Given the description of an element on the screen output the (x, y) to click on. 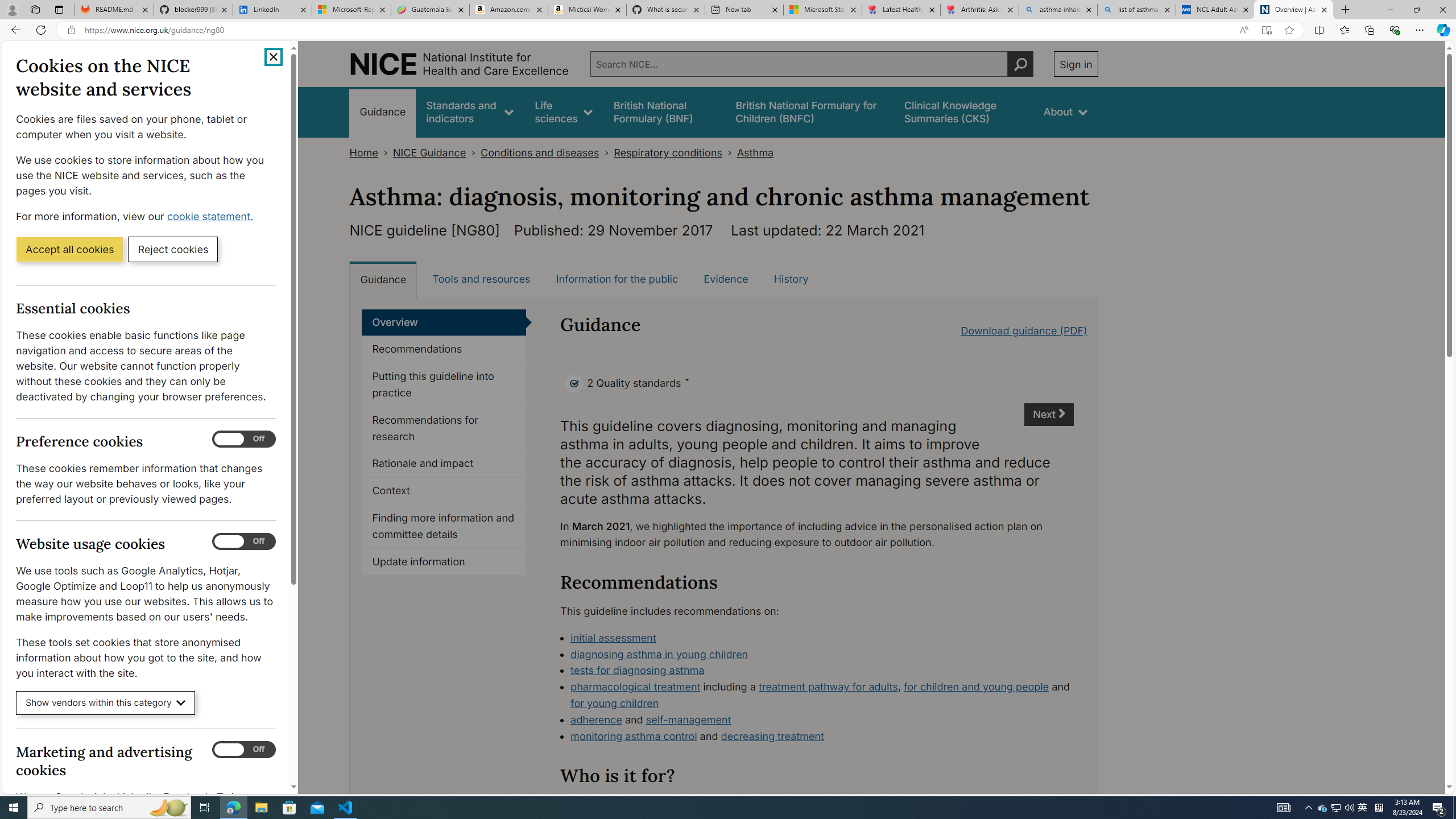
Recommendations (443, 349)
Overview (443, 321)
decreasing treatment (772, 735)
monitoring asthma control (633, 735)
Asthma (755, 152)
